Given the description of an element on the screen output the (x, y) to click on. 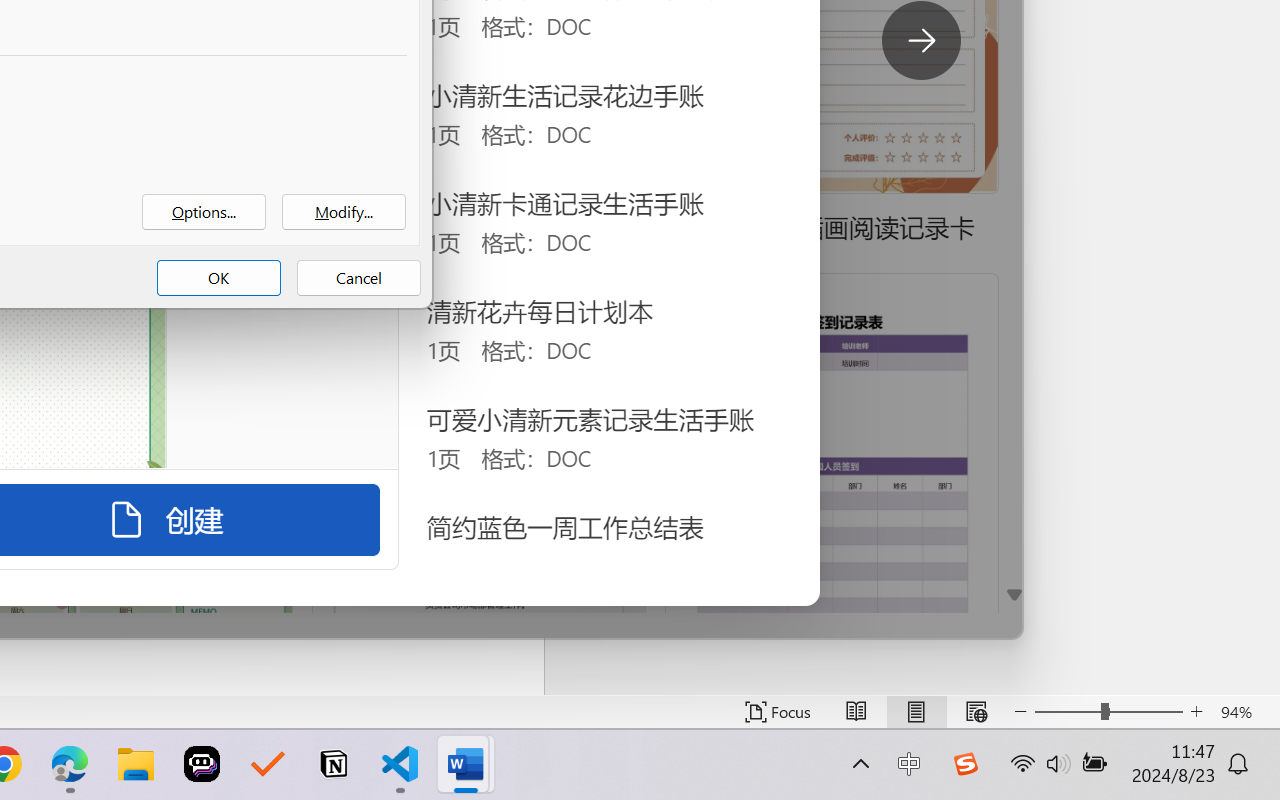
OK (218, 277)
Cancel (358, 277)
Options... (203, 211)
